Given the description of an element on the screen output the (x, y) to click on. 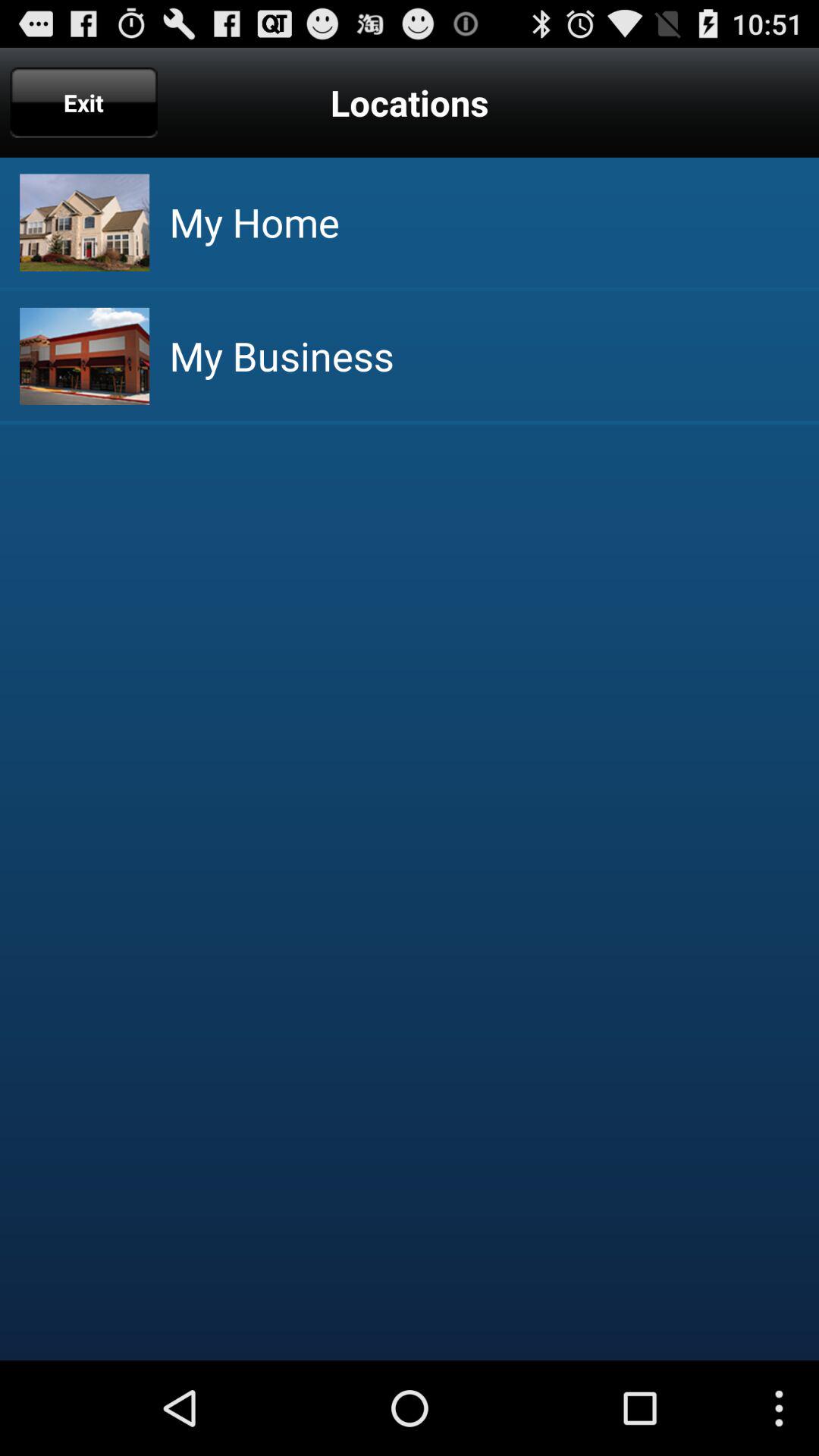
press the icon below the locations (254, 222)
